Given the description of an element on the screen output the (x, y) to click on. 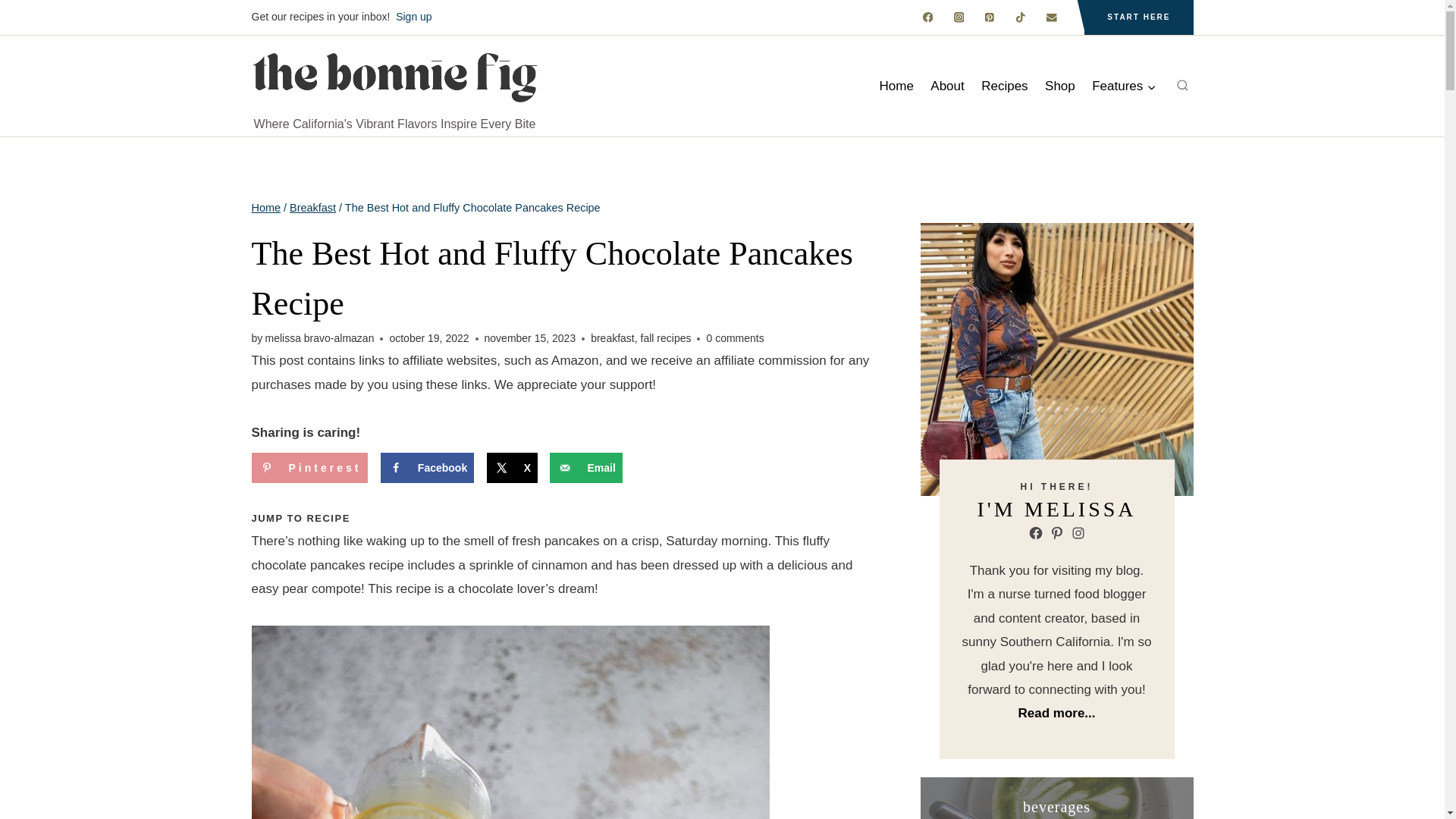
melissa bravo-almazan (319, 337)
Send over email (585, 467)
Where California's Vibrant Flavors Inspire Every Bite (394, 85)
breakfast (612, 337)
X (511, 467)
Breakfast (312, 207)
Features (1123, 85)
0 comments (734, 338)
Share on X (511, 467)
Facebook (427, 467)
